Given the description of an element on the screen output the (x, y) to click on. 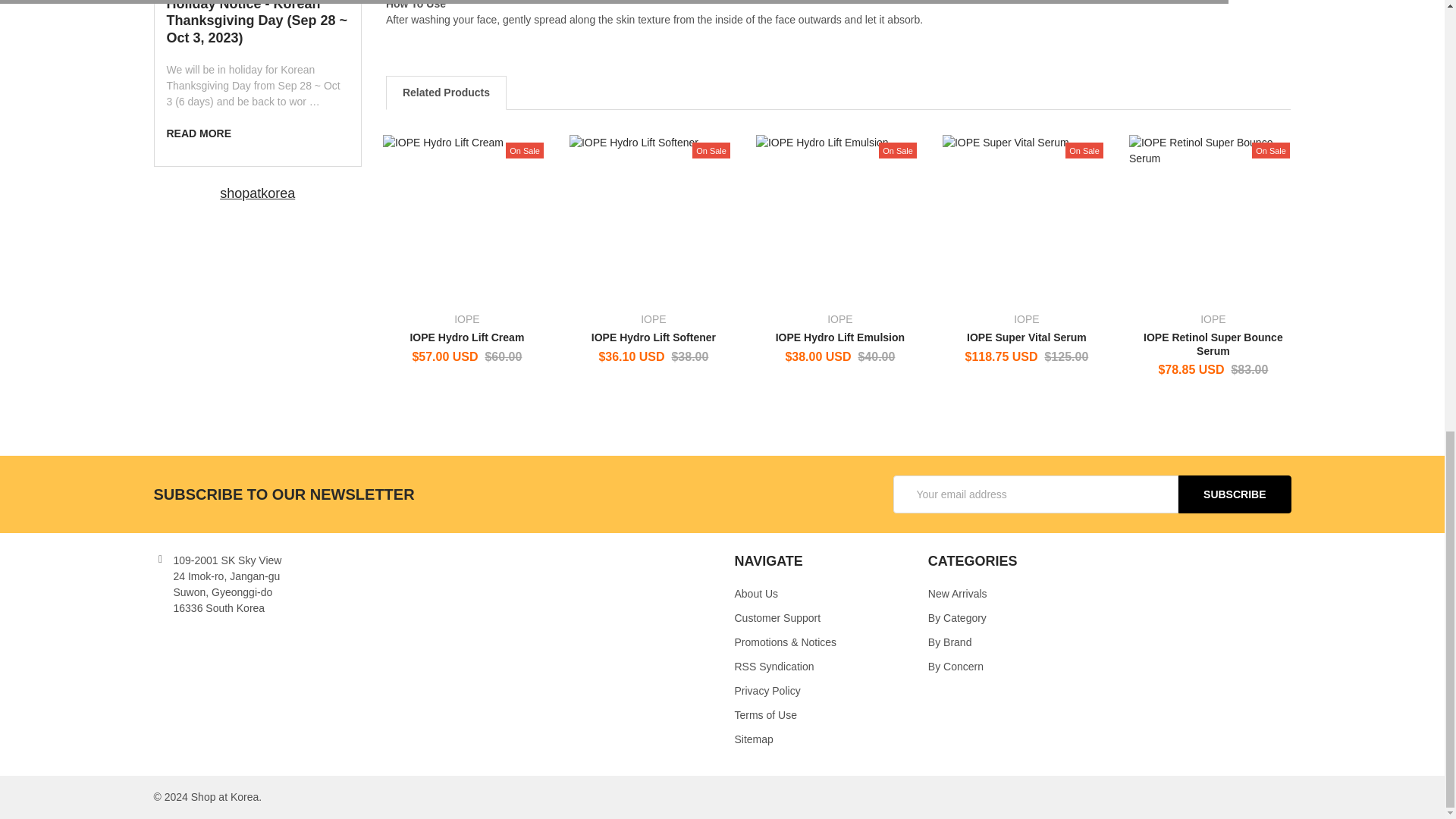
IOPE Hydro Lift Cream (466, 219)
IOPE Super Vital Serum (1026, 219)
Subscribe (1233, 494)
IOPE Hydro Lift Emulsion (839, 219)
IOPE Hydro Lift Softener (653, 219)
IOPE Retinol Super Bounce Serum (1213, 219)
